Given the description of an element on the screen output the (x, y) to click on. 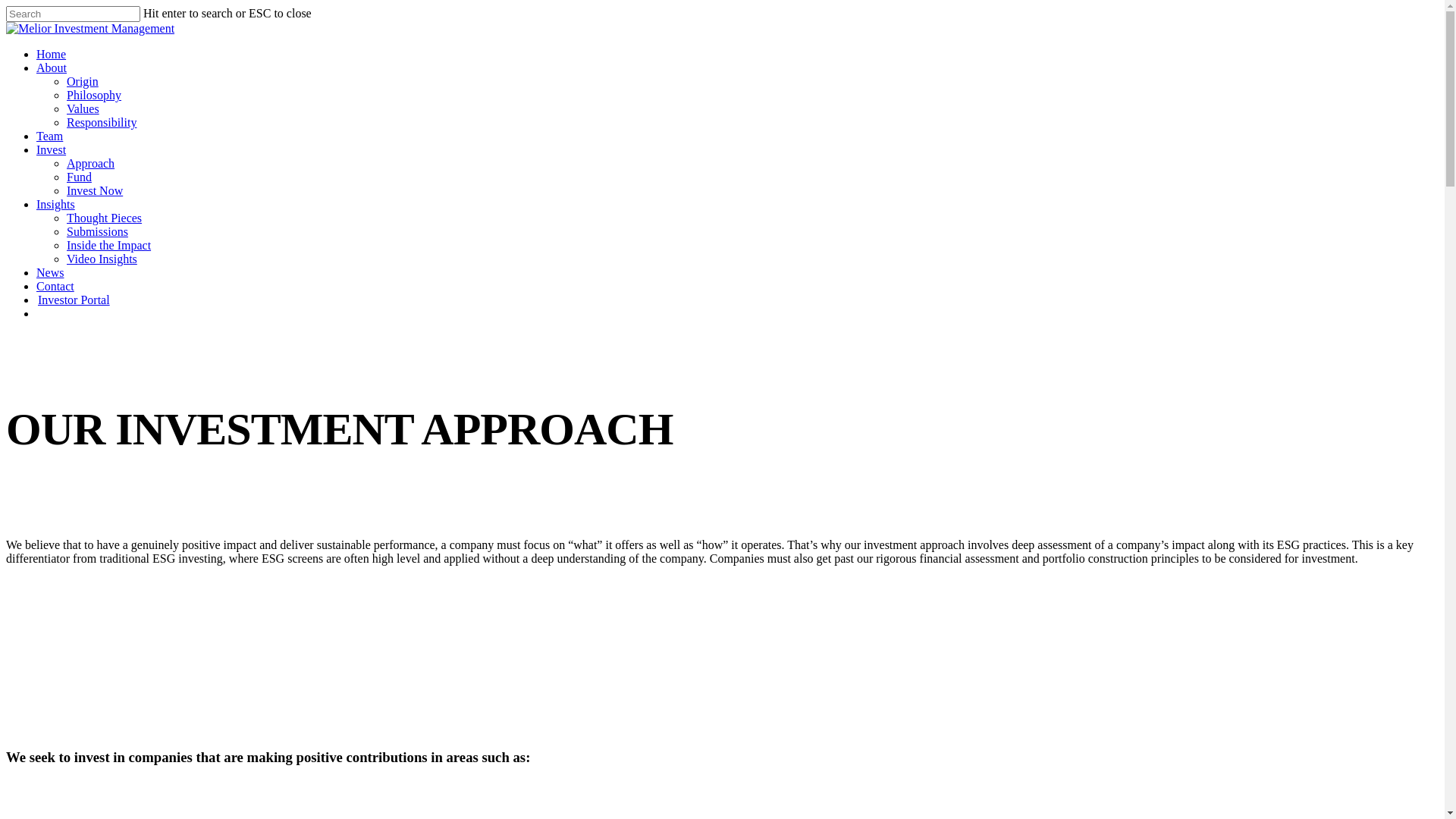
Philosophy Element type: text (93, 94)
Invest Element type: text (50, 149)
About Element type: text (51, 67)
Contact Element type: text (55, 285)
Investor Portal Element type: text (73, 299)
Responsibility Element type: text (101, 122)
News Element type: text (49, 272)
Thought Pieces Element type: text (103, 217)
Insights Element type: text (55, 203)
Origin Element type: text (82, 81)
Home Element type: text (50, 53)
Team Element type: text (49, 135)
Invest Now Element type: text (94, 190)
Submissions Element type: text (97, 231)
Skip to main content Element type: text (5, 5)
Inside the Impact Element type: text (108, 244)
Fund Element type: text (78, 176)
Video Insights Element type: text (101, 258)
Values Element type: text (82, 108)
Approach Element type: text (90, 162)
